Given the description of an element on the screen output the (x, y) to click on. 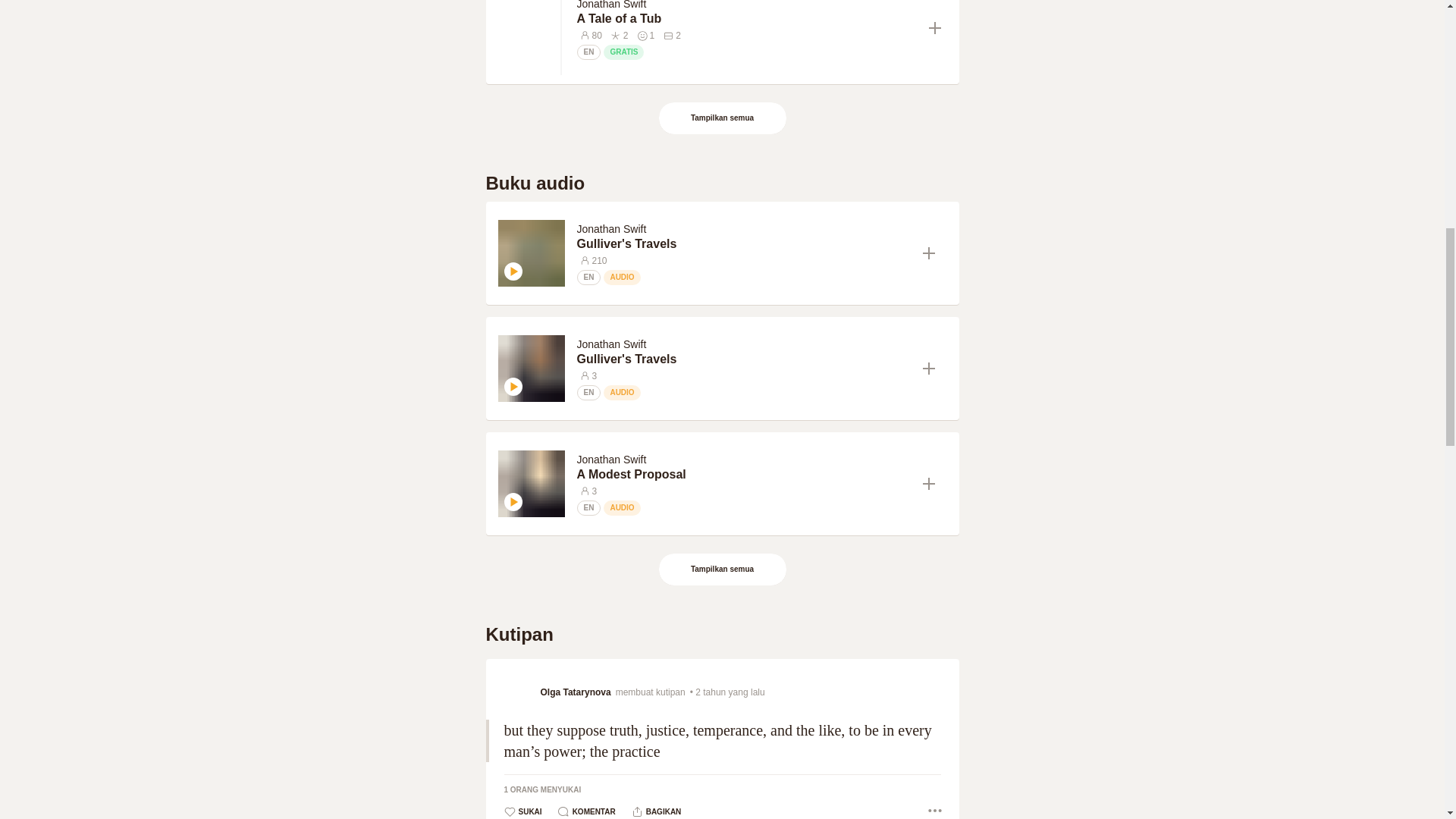
Jonathan Swift (611, 228)
Gulliver's Travels (743, 359)
Tampilkan semua (722, 569)
A Modest Proposal (743, 474)
Tampilkan semua (722, 118)
Tampilkan semua (722, 569)
A Tale of a Tub (745, 18)
Tampilkan semua (722, 118)
Jonathan Swift (611, 459)
Gulliver's Travels (743, 243)
Jonathan Swift (611, 4)
Jonathan Swift (611, 344)
